Given the description of an element on the screen output the (x, y) to click on. 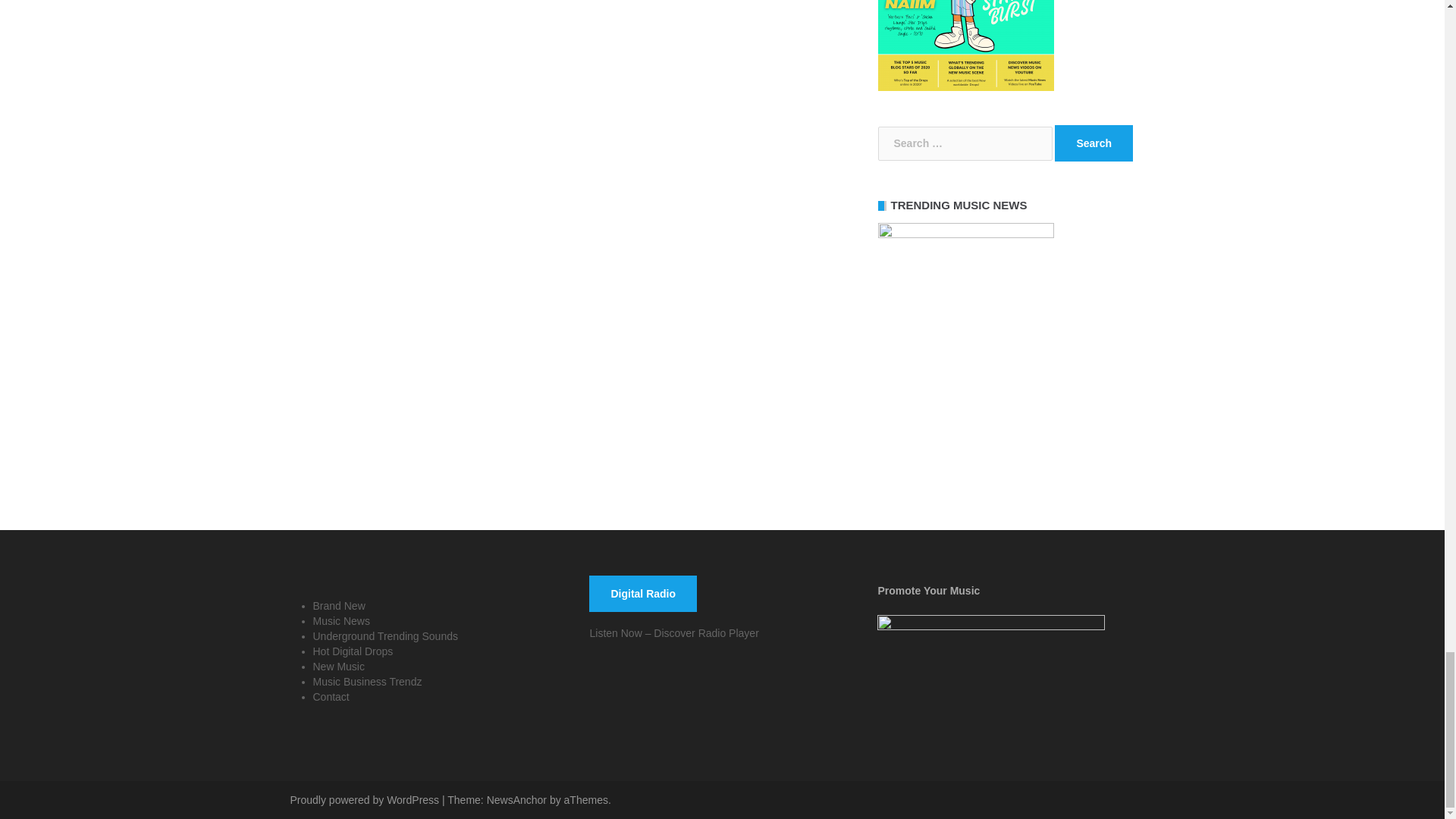
Digital Radio (643, 593)
Search (1093, 143)
Search (1093, 143)
